Given the description of an element on the screen output the (x, y) to click on. 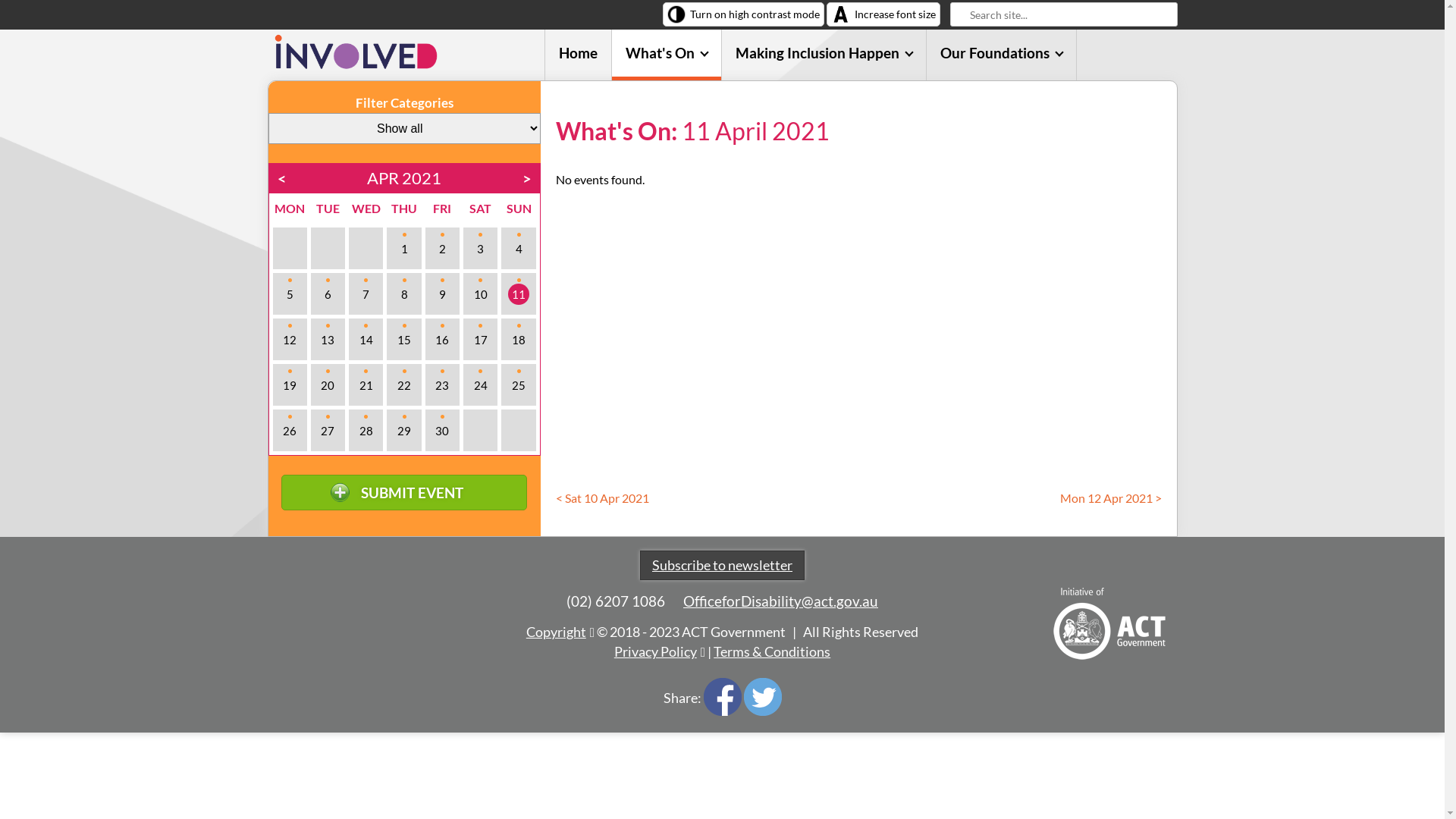
11 Element type: text (518, 294)
22 Element type: text (403, 385)
Mon 12 Apr 2021 > Element type: text (1110, 497)
> Element type: text (526, 177)
6 Element type: text (327, 294)
26 Element type: text (289, 430)
12 Element type: text (289, 339)
Increase font size Element type: text (882, 14)
APR 2021 Element type: text (404, 177)
Turn on high contrast mode Element type: text (743, 14)
13 Element type: text (327, 339)
9 Element type: text (442, 294)
18 Element type: text (518, 339)
Terms & Conditions Element type: text (771, 651)
< Sat 10 Apr 2021 Element type: text (602, 497)
27 Element type: text (327, 430)
10 Element type: text (480, 294)
1 Element type: text (403, 248)
OfficeforDisability@act.gov.au Element type: text (780, 600)
28 Element type: text (365, 430)
20 Element type: text (327, 385)
15 Element type: text (403, 339)
23 Element type: text (442, 385)
21 Element type: text (365, 385)
Search site... Element type: hover (1062, 14)
5 Element type: text (289, 294)
25 Element type: text (518, 385)
30 Element type: text (442, 430)
Our Foundations Element type: text (1001, 54)
SUBMIT EVENT Element type: text (403, 492)
4 Element type: text (518, 248)
7 Element type: text (365, 294)
ACT Government Element type: hover (1108, 623)
19 Element type: text (289, 385)
16 Element type: text (442, 339)
3 Element type: text (480, 248)
2 Element type: text (442, 248)
Copyright Element type: text (560, 632)
8 Element type: text (403, 294)
Home Element type: text (578, 54)
Privacy Policy Element type: text (659, 651)
14 Element type: text (365, 339)
< Element type: text (281, 177)
Subscribe to newsletter Element type: text (722, 565)
Making Inclusion Happen Element type: text (823, 54)
24 Element type: text (480, 385)
29 Element type: text (403, 430)
17 Element type: text (480, 339)
What's On Element type: text (666, 54)
